Given the description of an element on the screen output the (x, y) to click on. 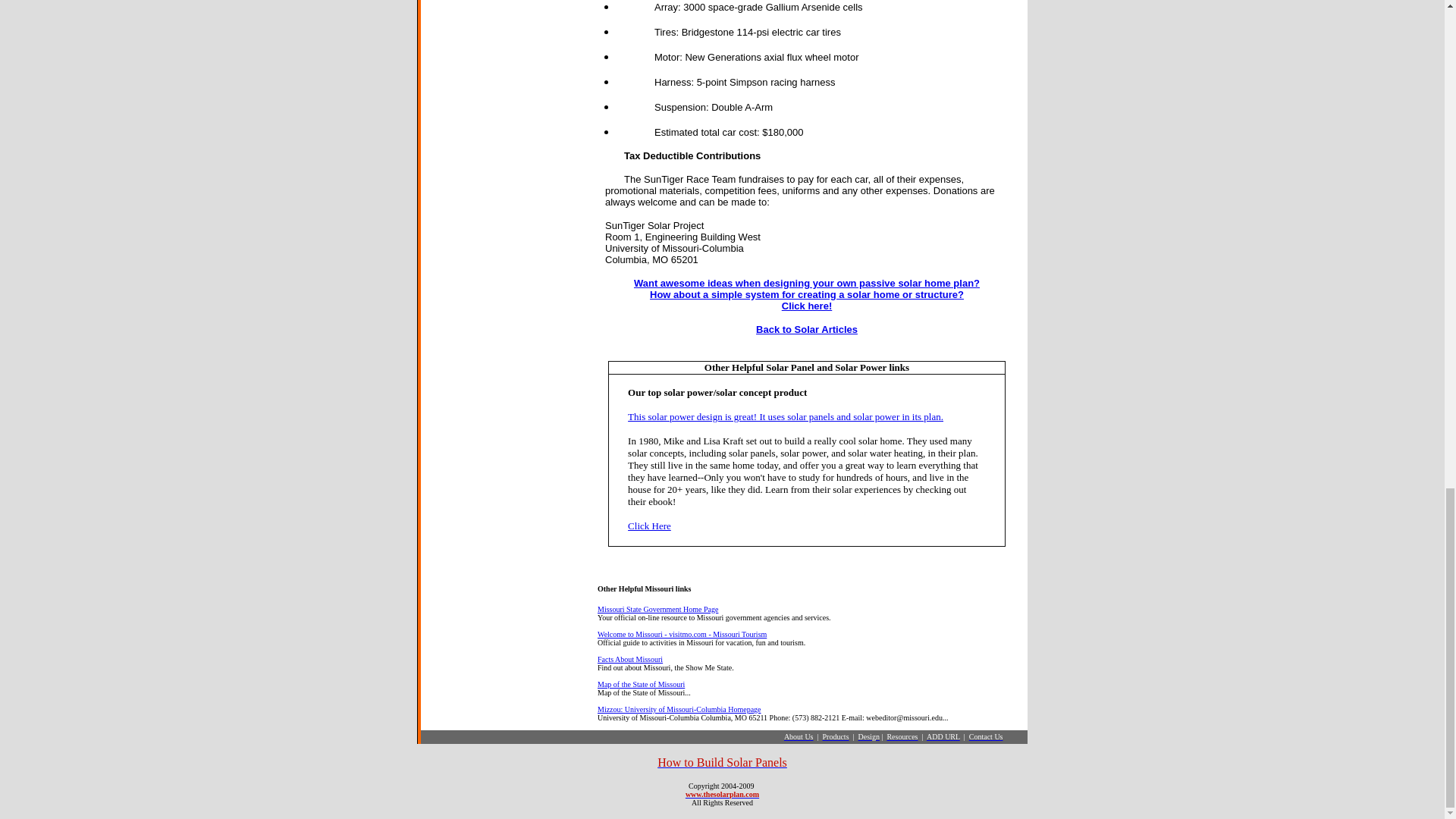
Resources (901, 736)
www.thesolarplan.com (721, 794)
Map of the State of Missouri (640, 684)
How to Build Solar Panels (722, 762)
Back to Solar Articles (806, 328)
Products (835, 736)
Missouri State Government Home Page (656, 609)
Contact Us (986, 736)
Facts About Missouri (629, 659)
About Us (798, 736)
Design (869, 736)
Click Here (649, 525)
solar panels and solar power plans (806, 294)
